Given the description of an element on the screen output the (x, y) to click on. 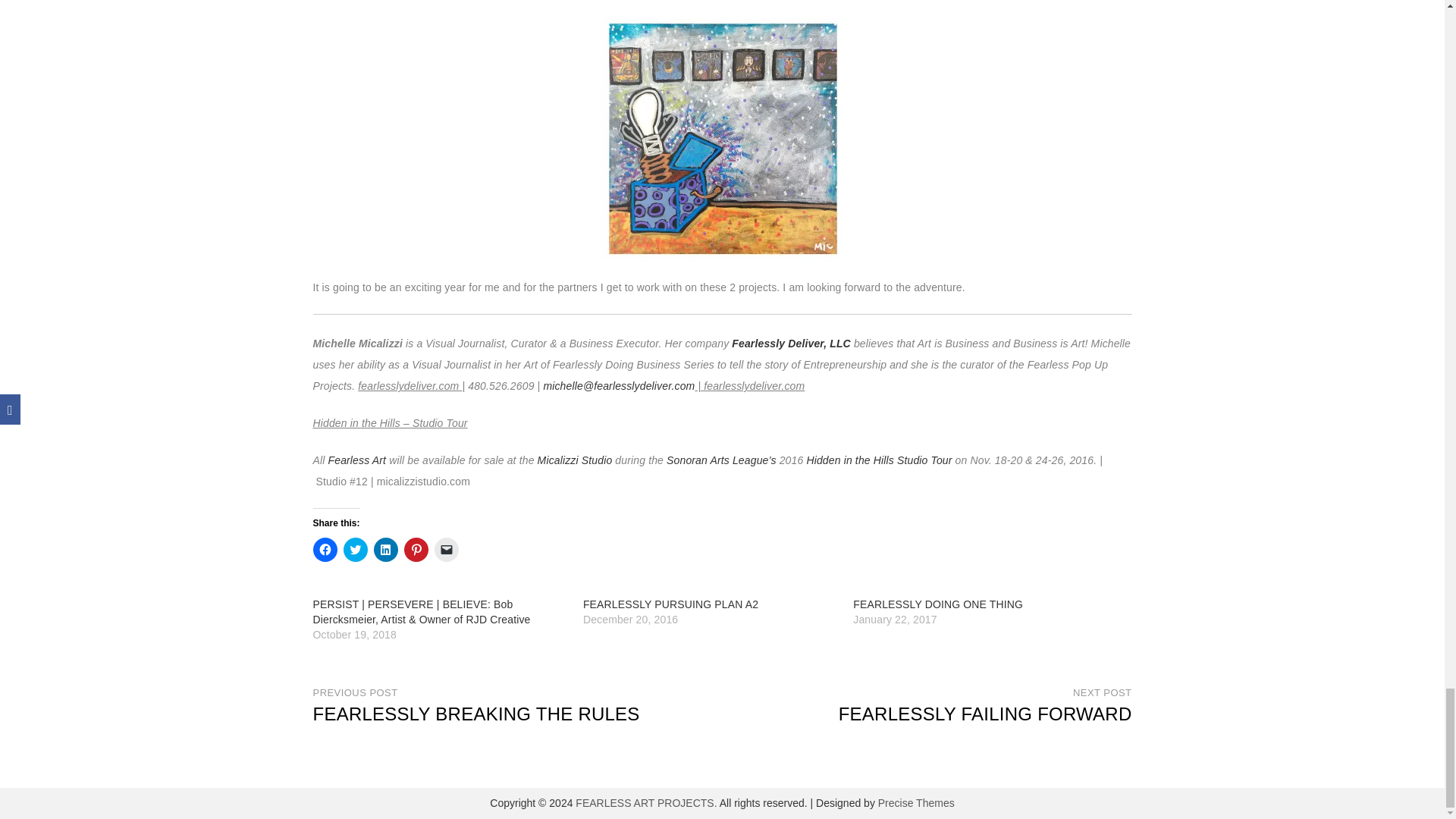
Click to email a link to a friend (445, 549)
Hidden in the Hills Studio Tour (879, 460)
FEARLESSLY PURSUING PLAN A2 (670, 604)
Click to share on Twitter (354, 549)
Micalizzi Studio (574, 460)
Click to share on Facebook (324, 549)
FEARLESSLY DOING ONE THING (938, 604)
Click to share on Pinterest (415, 549)
Click to share on LinkedIn (384, 549)
Fearlessly Deliver, LLC (791, 343)
